Given the description of an element on the screen output the (x, y) to click on. 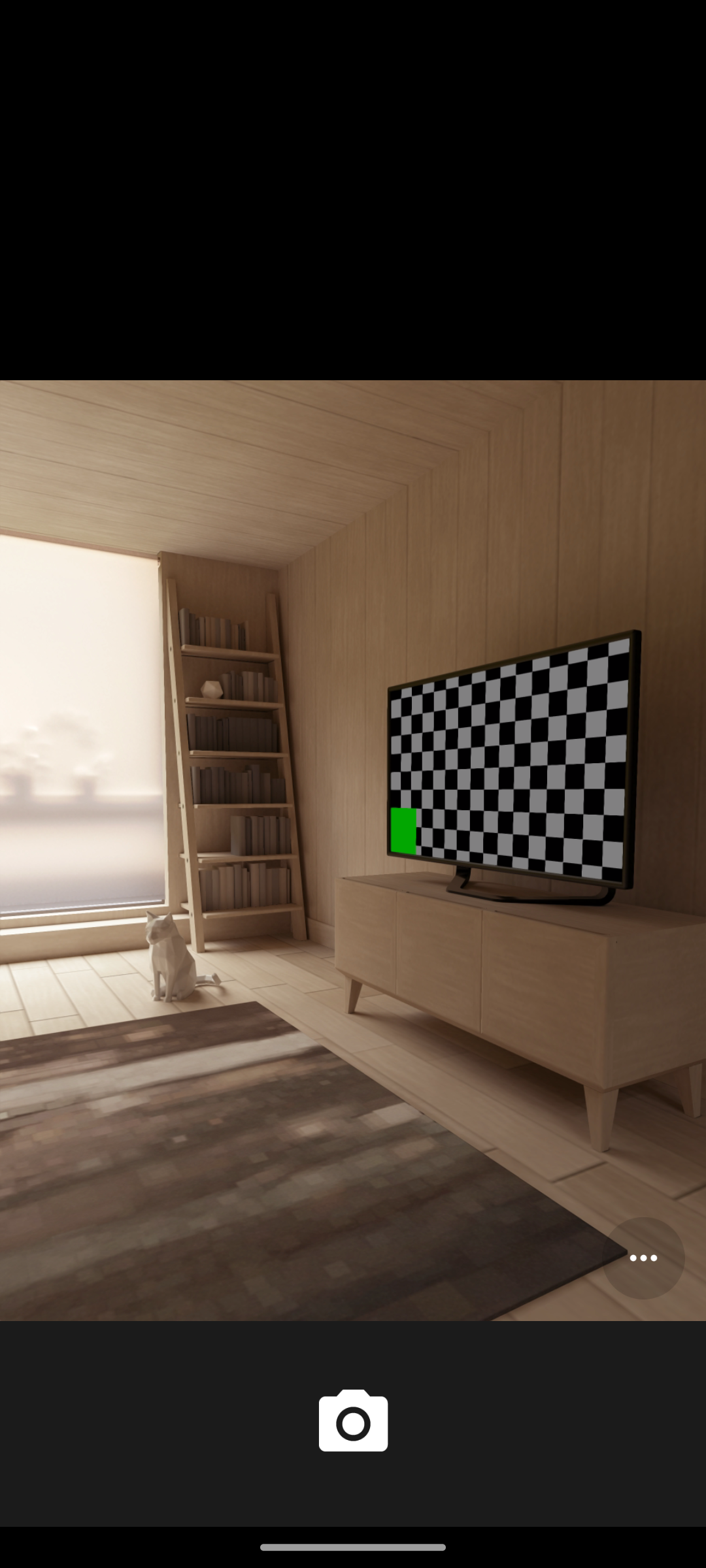
Options (643, 1257)
Shutter (353, 1423)
